Given the description of an element on the screen output the (x, y) to click on. 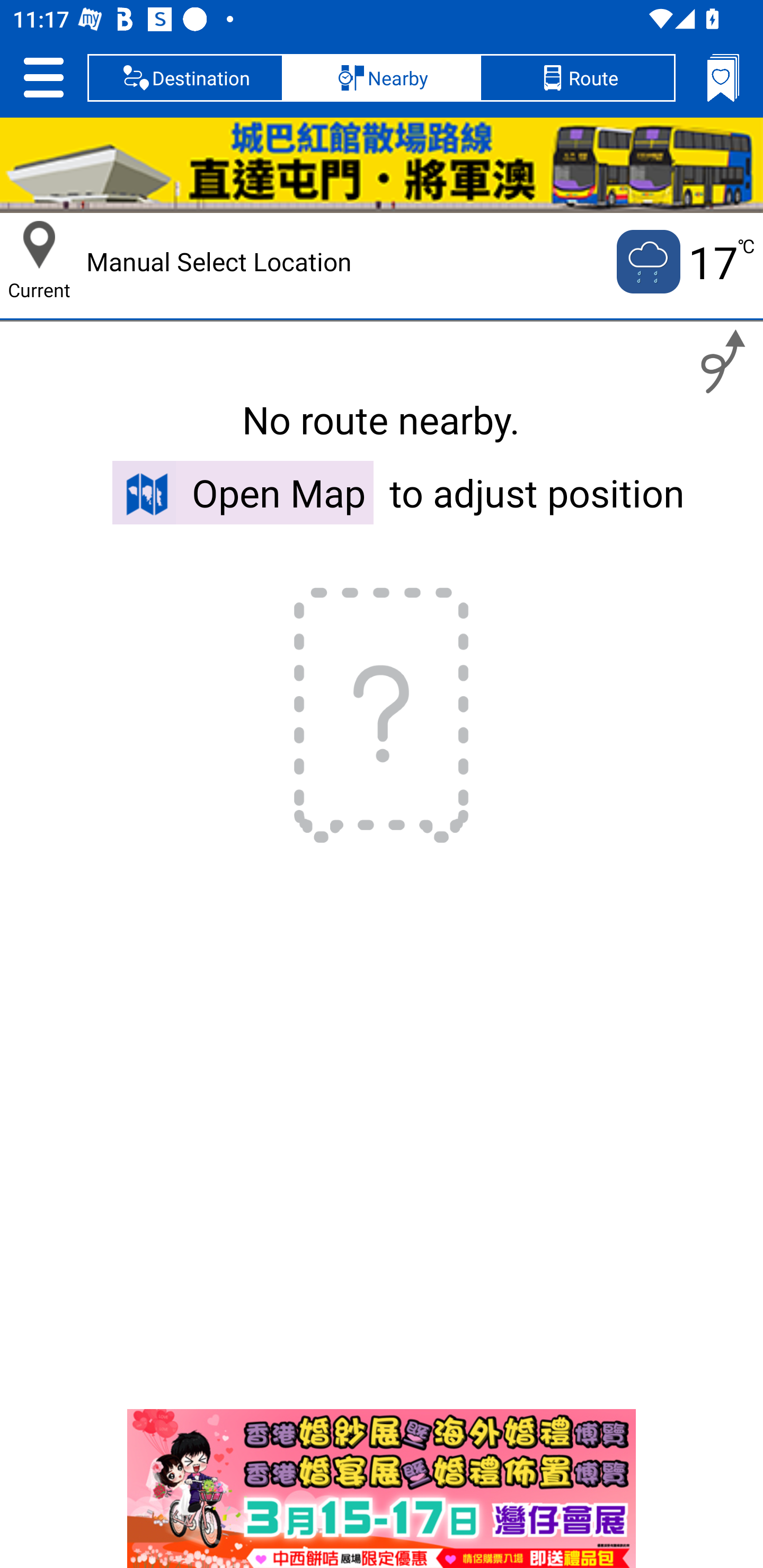
Destination (185, 77)
Nearby, selected (381, 77)
Route (577, 77)
Bookmarks (723, 77)
Setting (43, 77)
HKC (381, 165)
Current Location (38, 244)
Current temputure is  17  no 17 ℃ (684, 261)
Open Map (242, 491)
index (381, 1488)
